Given the description of an element on the screen output the (x, y) to click on. 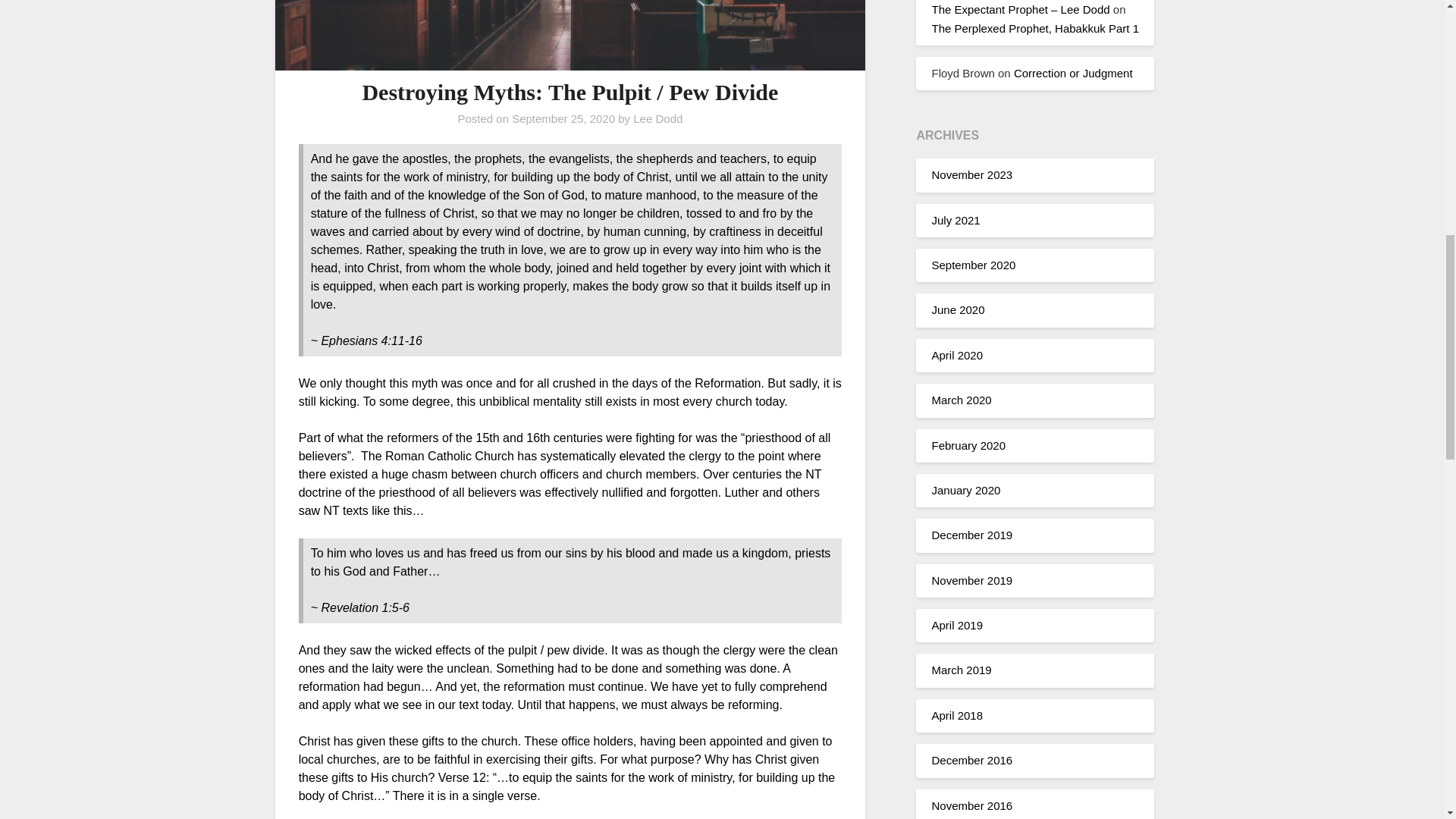
December 2016 (971, 759)
November 2019 (971, 580)
The Perplexed Prophet, Habakkuk Part 1 (1034, 27)
Lee Dodd (657, 118)
September 25, 2020 (563, 118)
November 2016 (971, 805)
April 2018 (956, 715)
Correction or Judgment (1072, 72)
November 2023 (971, 174)
February 2020 (968, 444)
